Given the description of an element on the screen output the (x, y) to click on. 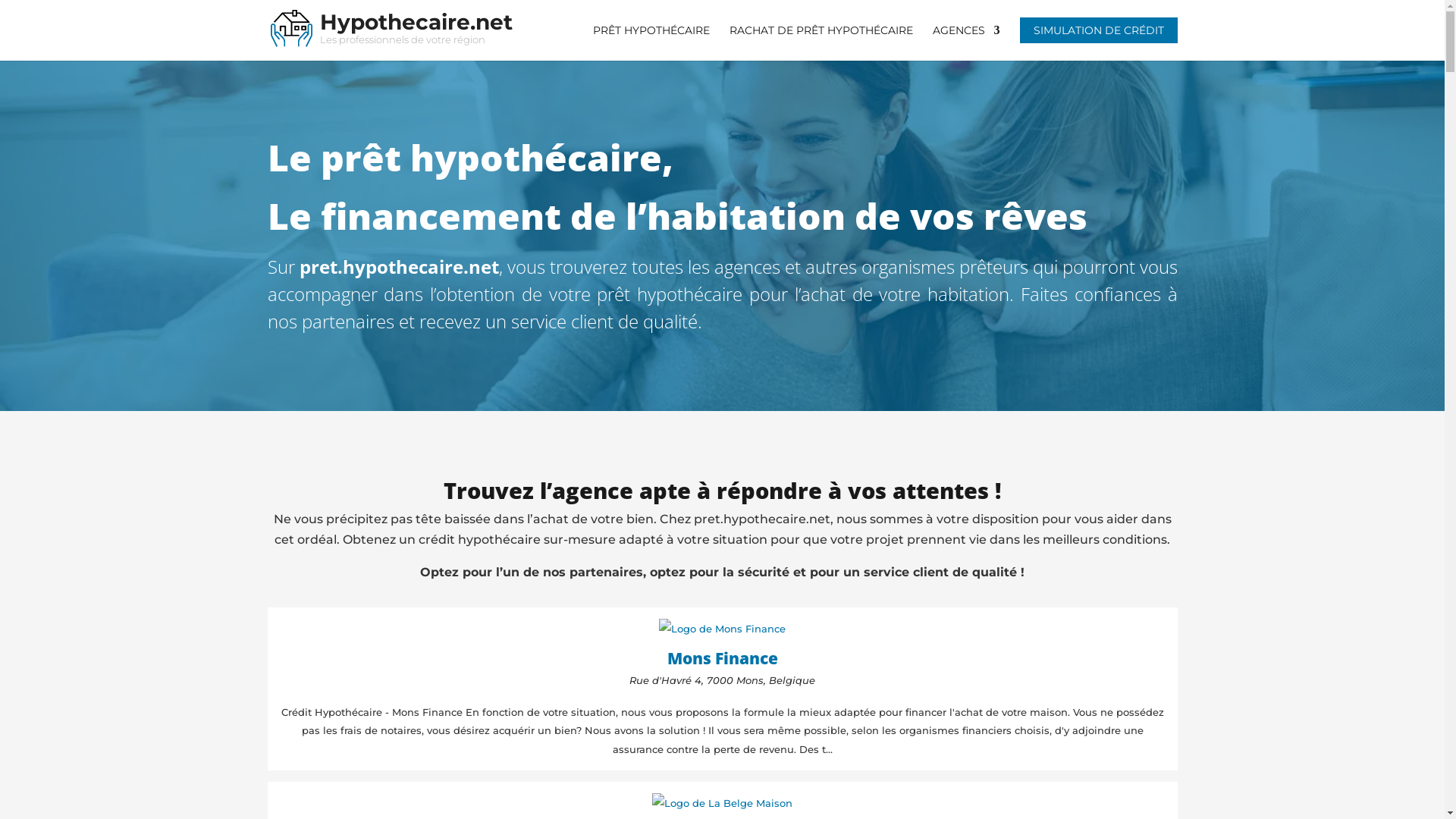
Mons Finance Element type: text (722, 654)
AGENCES Element type: text (966, 42)
